Given the description of an element on the screen output the (x, y) to click on. 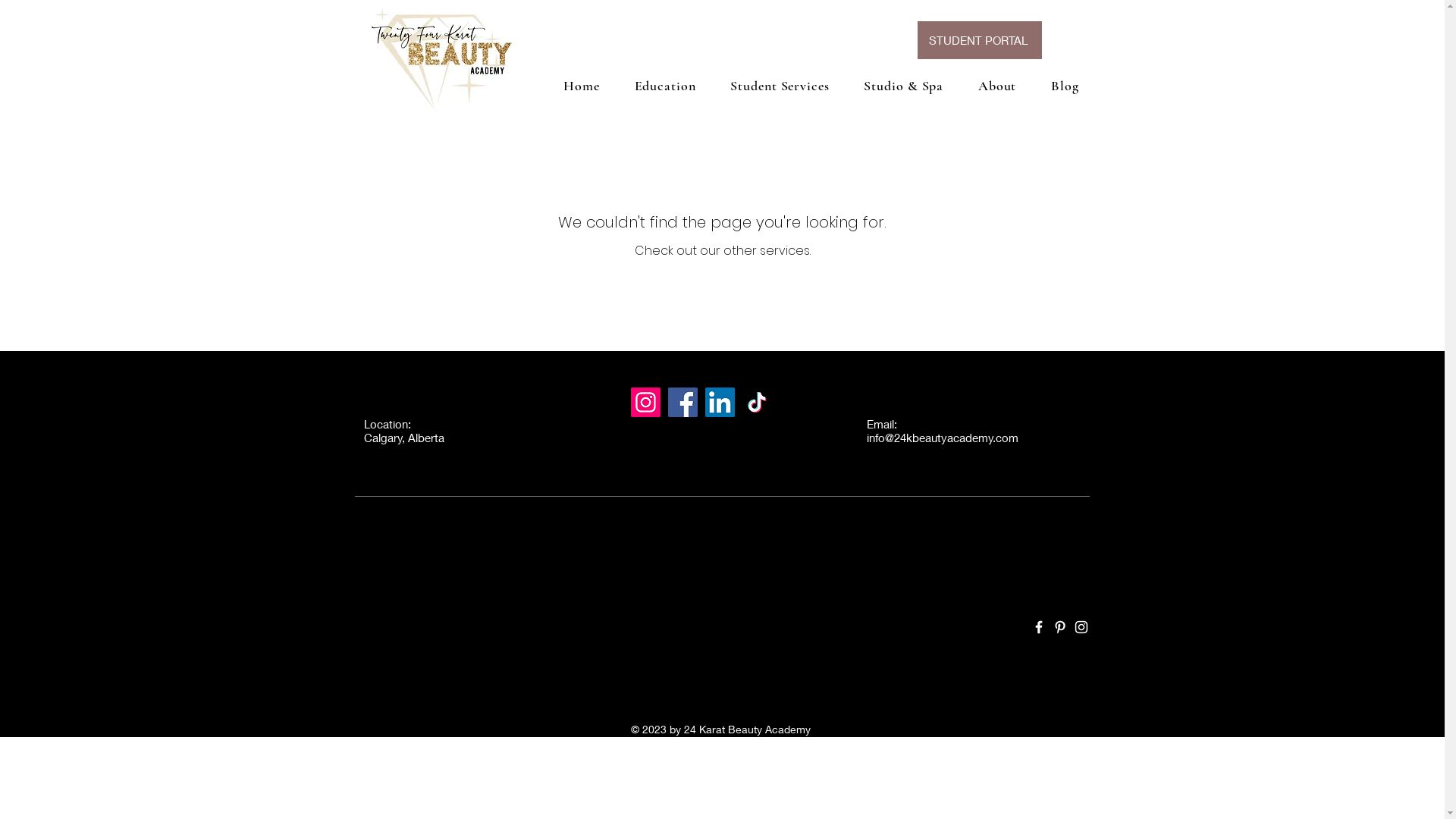
Studio & Spa Element type: text (903, 85)
Student Services Element type: text (780, 85)
glitter-lashes-logo_6181d2ad585273_69401884_1.jpg Element type: hover (438, 59)
STUDENT PORTAL Element type: text (977, 39)
Blog Element type: text (1064, 85)
Education Element type: text (665, 85)
About Element type: text (996, 85)
info@24kbeautyacademy.com Element type: text (941, 437)
Home Element type: text (581, 85)
Google Maps Element type: hover (722, 600)
